Given the description of an element on the screen output the (x, y) to click on. 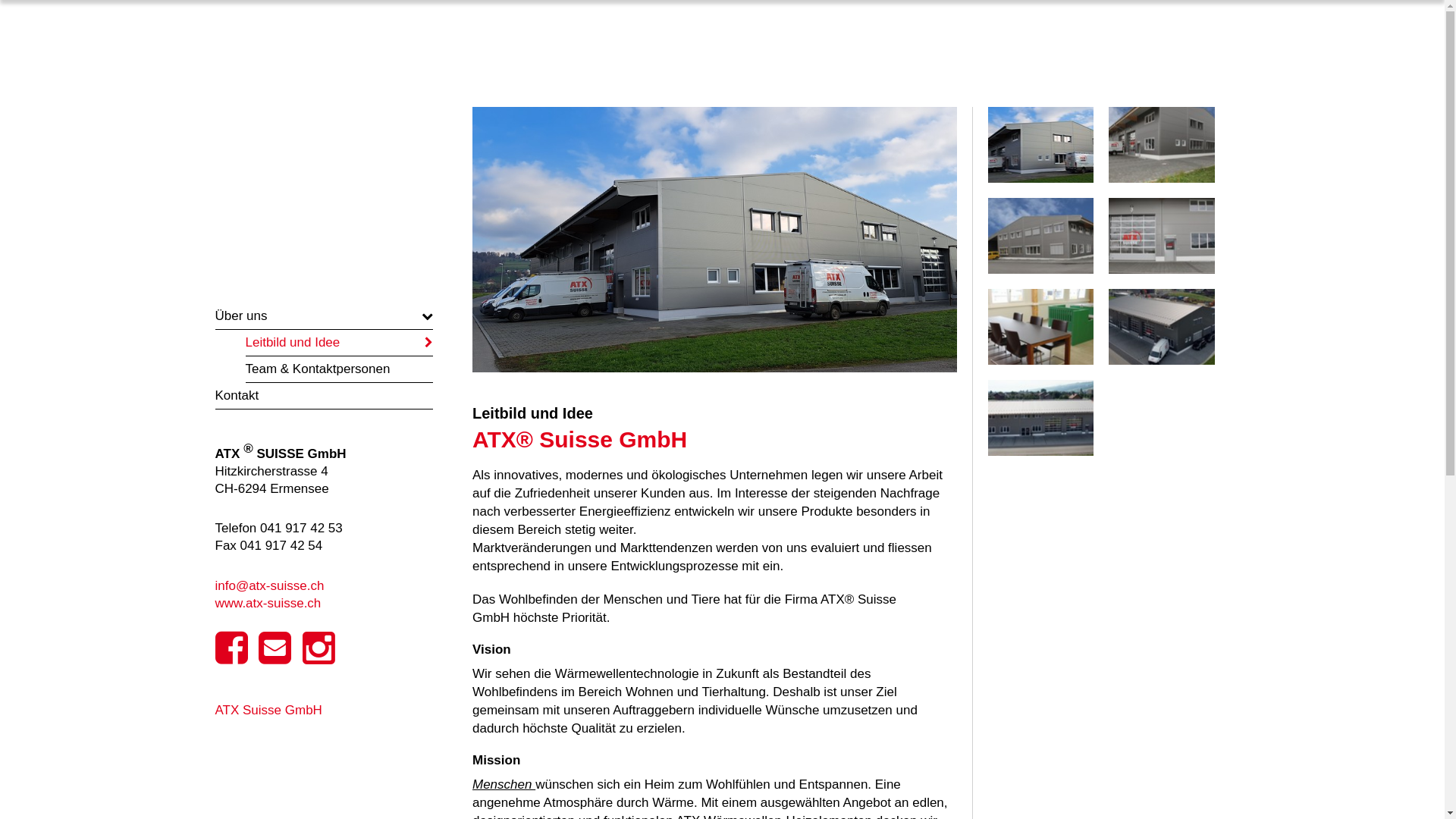
www.atx-suisse.ch Element type: text (268, 603)
Kontakt Element type: text (324, 395)
info@atx-suisse.ch Element type: text (269, 585)
Leitbild und Idee Element type: text (339, 342)
Team & Kontaktpersonen Element type: text (339, 369)
ATX Suisse GmbH Element type: text (268, 709)
